Given the description of an element on the screen output the (x, y) to click on. 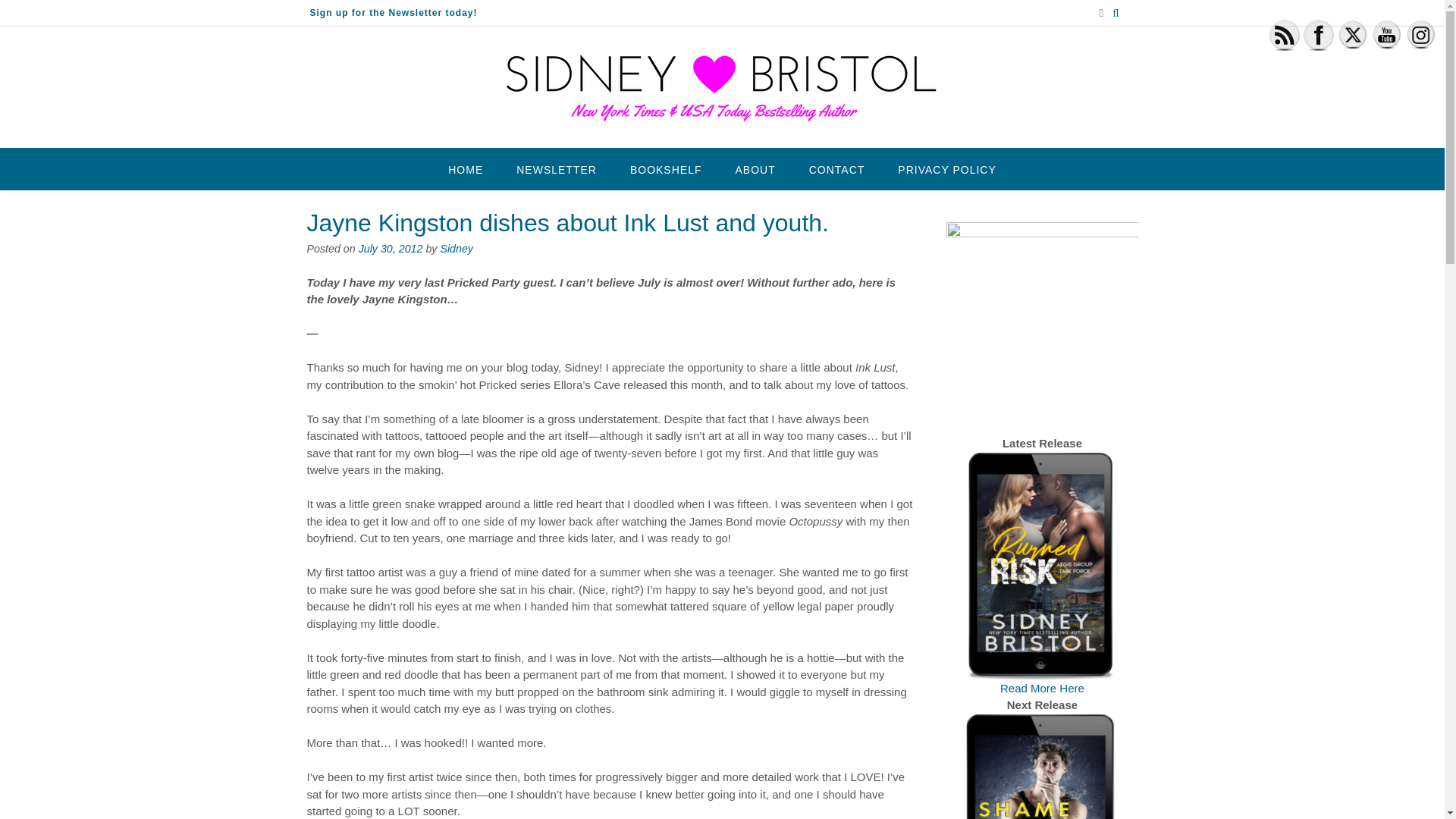
Sidney (456, 248)
Facebook (1318, 34)
Send us an email (1101, 12)
PRIVACY POLICY (945, 169)
ABOUT (755, 169)
RSS (1284, 34)
July 30, 2012 (390, 248)
NEWSLETTER (555, 169)
HOME (464, 169)
CONTACT (837, 169)
BOOKSHELF (665, 169)
